Given the description of an element on the screen output the (x, y) to click on. 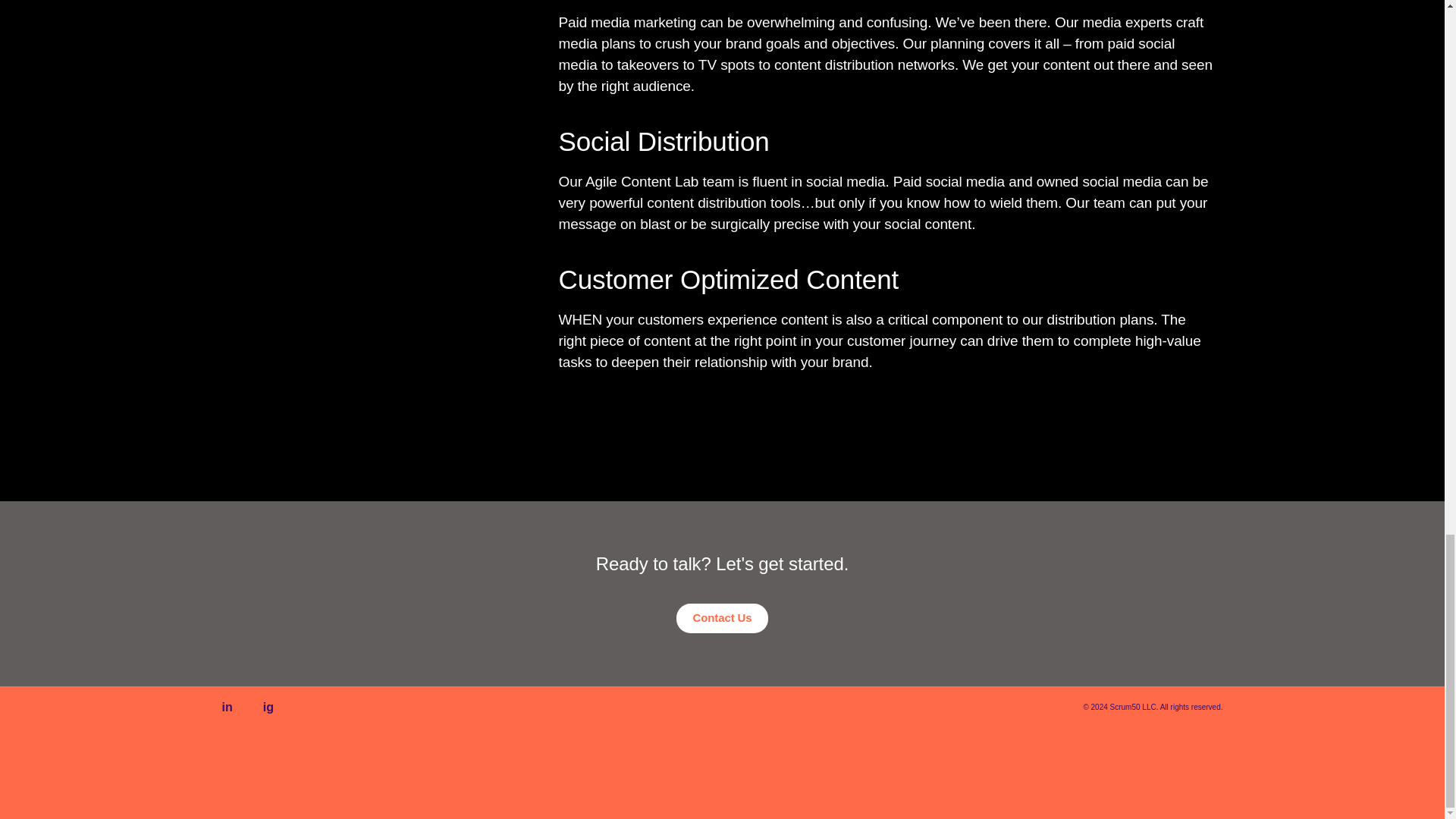
Contact Us (722, 618)
